Given the description of an element on the screen output the (x, y) to click on. 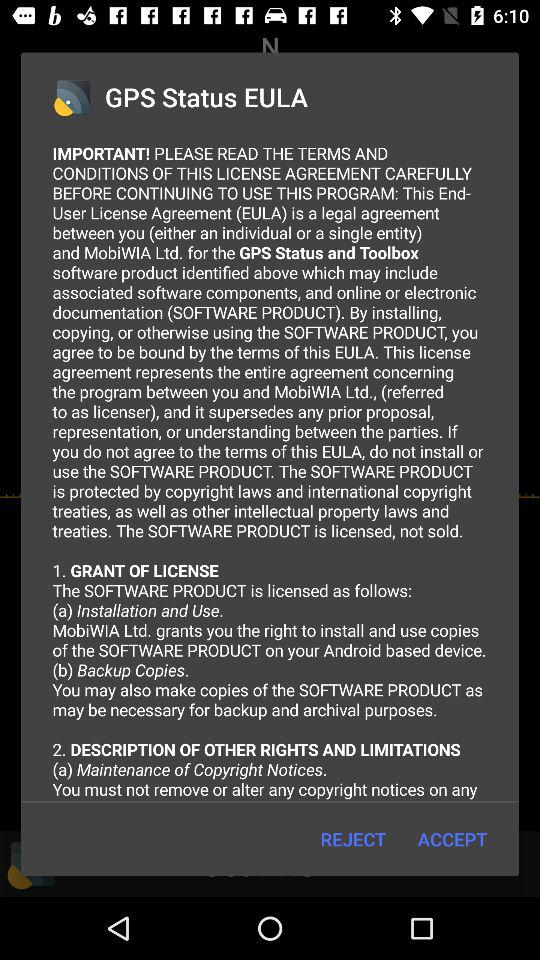
launch the item at the bottom right corner (452, 838)
